Given the description of an element on the screen output the (x, y) to click on. 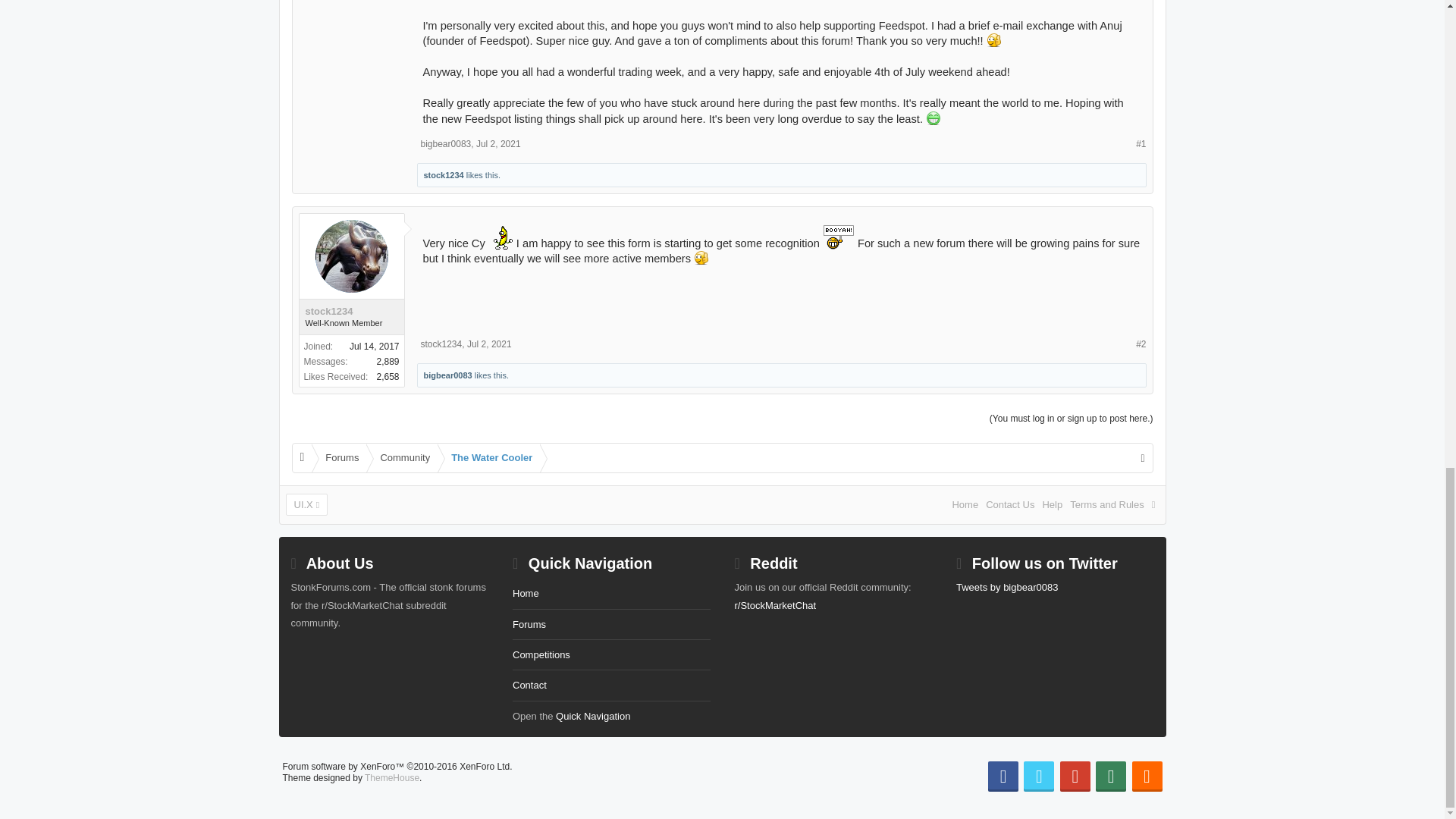
ThumbsUp    :thumbsup: (994, 39)
Big Grin    :D (933, 118)
ThumbsUp    :thumbsup: (700, 257)
Permalink (498, 143)
Booyah    :booyah: (838, 235)
